Given the description of an element on the screen output the (x, y) to click on. 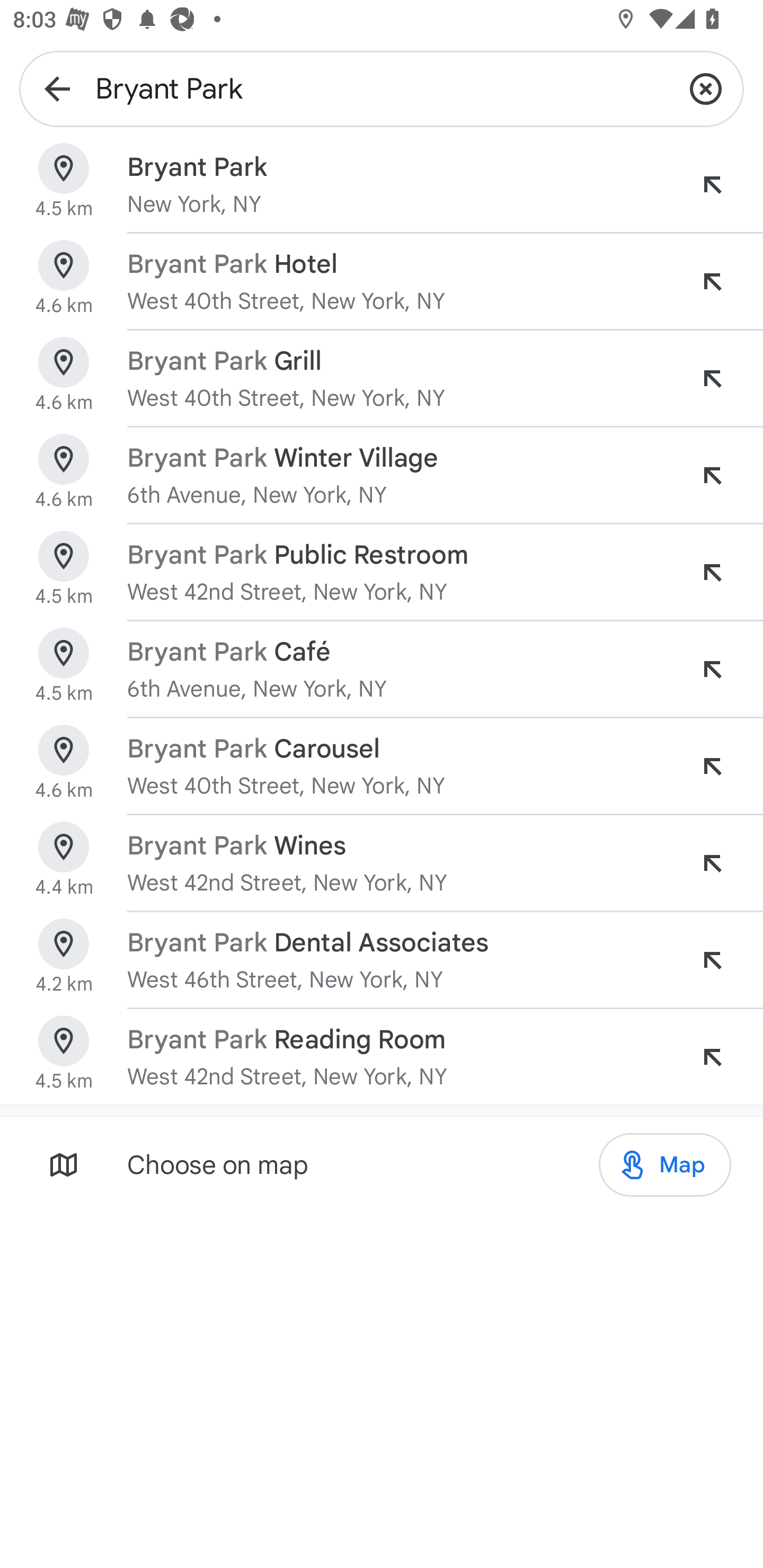
Navigate up (57, 88)
Bryant Park (381, 88)
Clear (705, 88)
Choose on map Map Map Map (381, 1164)
Map Map Map (664, 1164)
